Given the description of an element on the screen output the (x, y) to click on. 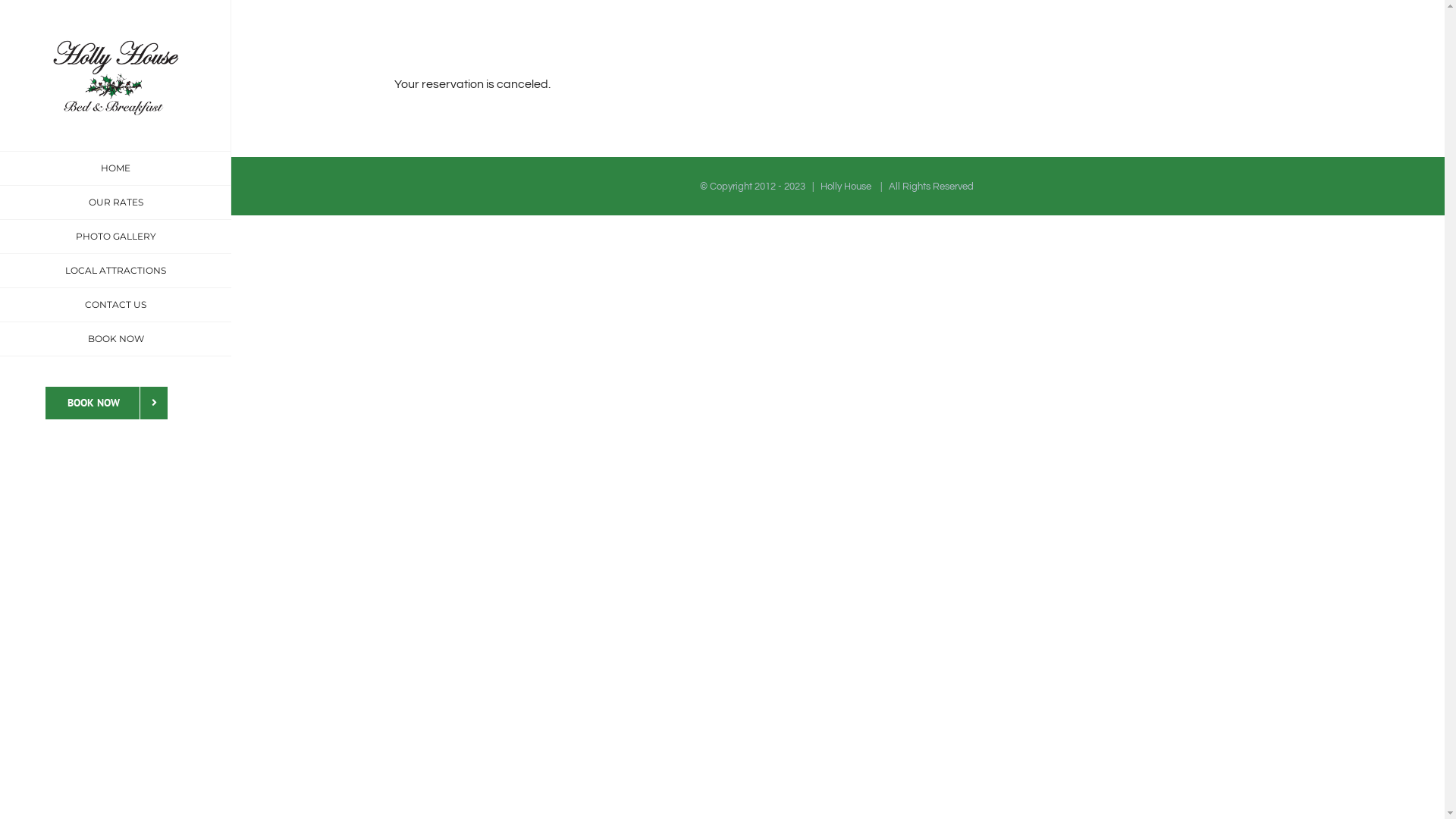
LOCAL ATTRACTIONS Element type: text (115, 271)
HOME Element type: text (115, 167)
CONTACT US Element type: text (115, 305)
BOOK NOW Element type: text (115, 339)
BOOK NOW Element type: text (106, 402)
OUR RATES Element type: text (115, 202)
PHOTO GALLERY Element type: text (115, 236)
